Given the description of an element on the screen output the (x, y) to click on. 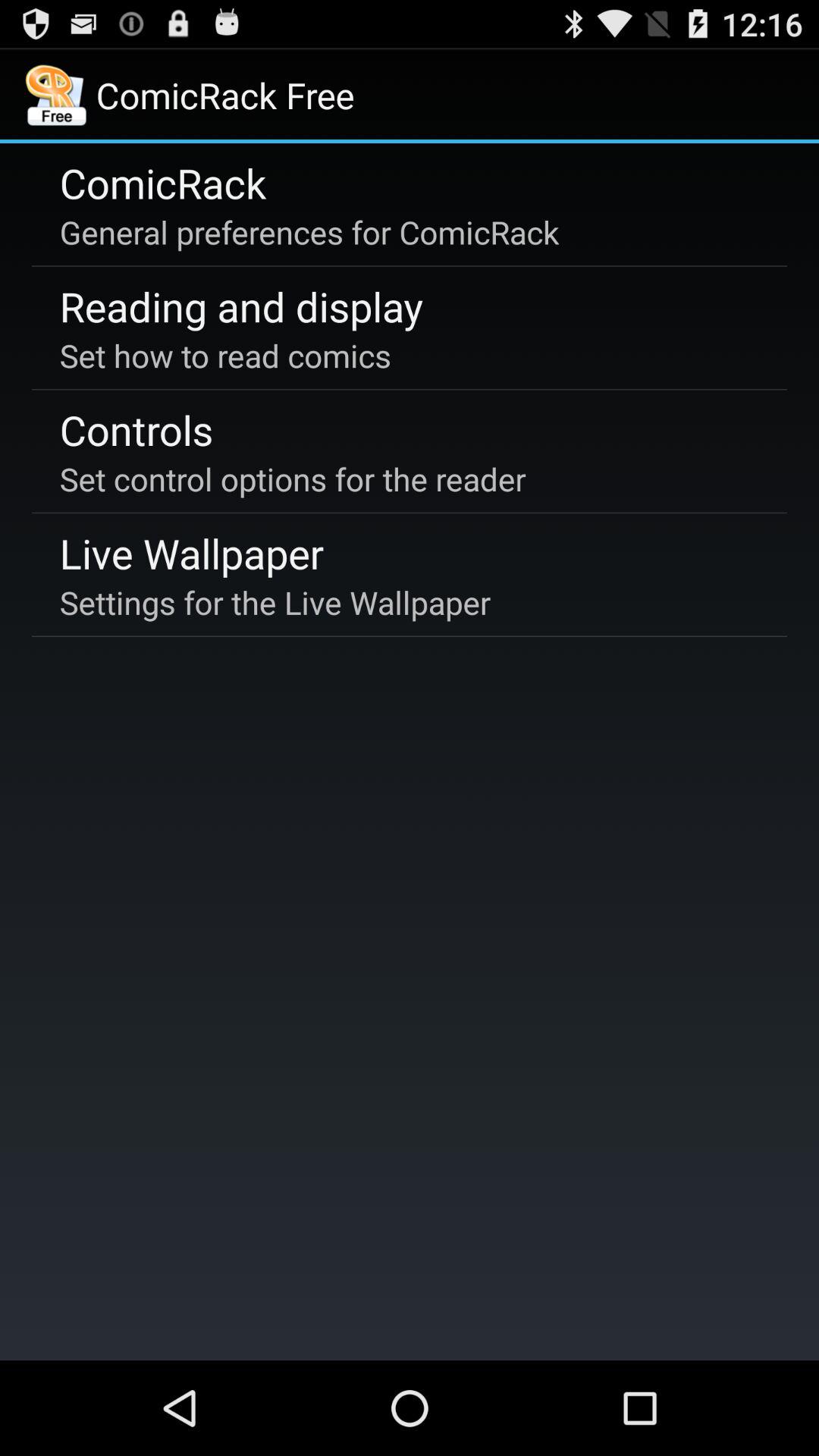
open the icon below the controls item (292, 478)
